Given the description of an element on the screen output the (x, y) to click on. 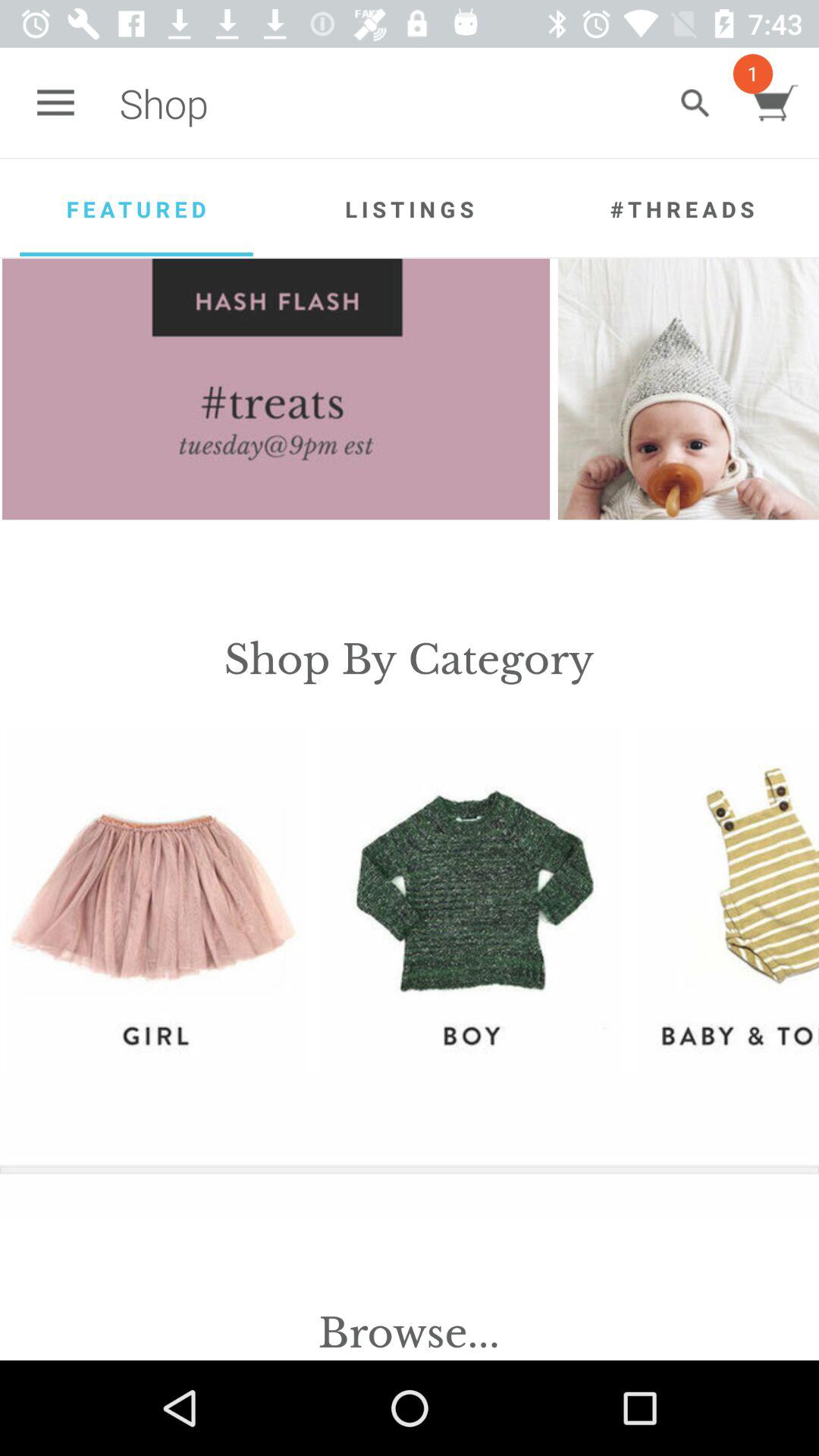
tap the item above the #threads (695, 103)
